Given the description of an element on the screen output the (x, y) to click on. 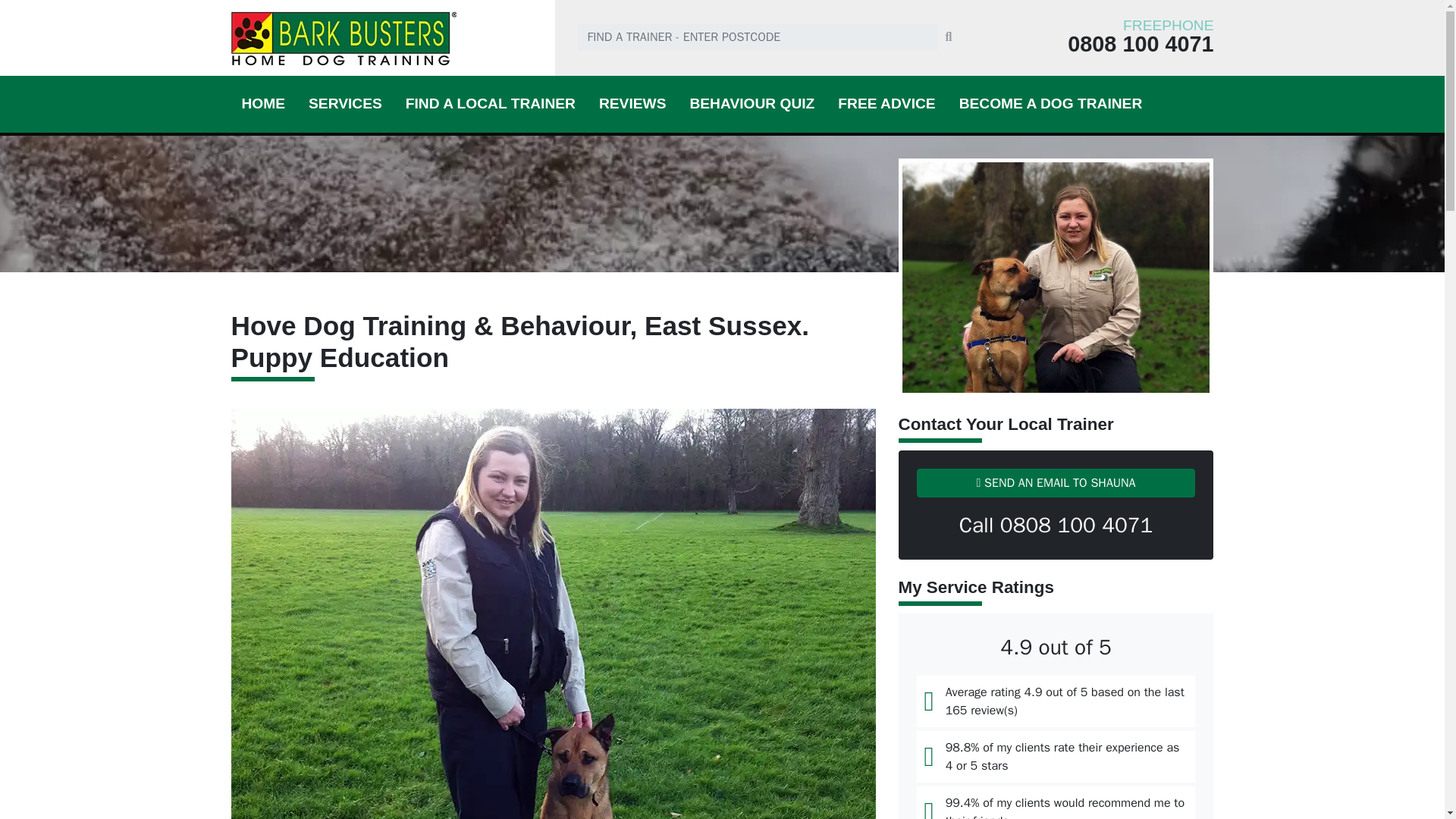
FREE ADVICE (885, 103)
Dog Training Near Me - find dog trainers in your area (490, 103)
BEHAVIOUR QUIZ (751, 103)
BECOME A DOG TRAINER (1051, 103)
FIND A LOCAL TRAINER (490, 103)
SEND AN EMAIL TO SHAUNA (1055, 482)
Bark Busters Reviews and Customer Testimonials (632, 103)
0808 100 4071 (1096, 43)
Call 0808 100 4071 (1055, 525)
Free Dog Training Tips on Dog Behaviour Problems (885, 103)
SERVICES (345, 103)
REVIEWS (632, 103)
HOME (262, 103)
Bark Busters Home Dog Training (387, 38)
Free Dog Behaviour Quiz by Bark Busters Dog Training (751, 103)
